Given the description of an element on the screen output the (x, y) to click on. 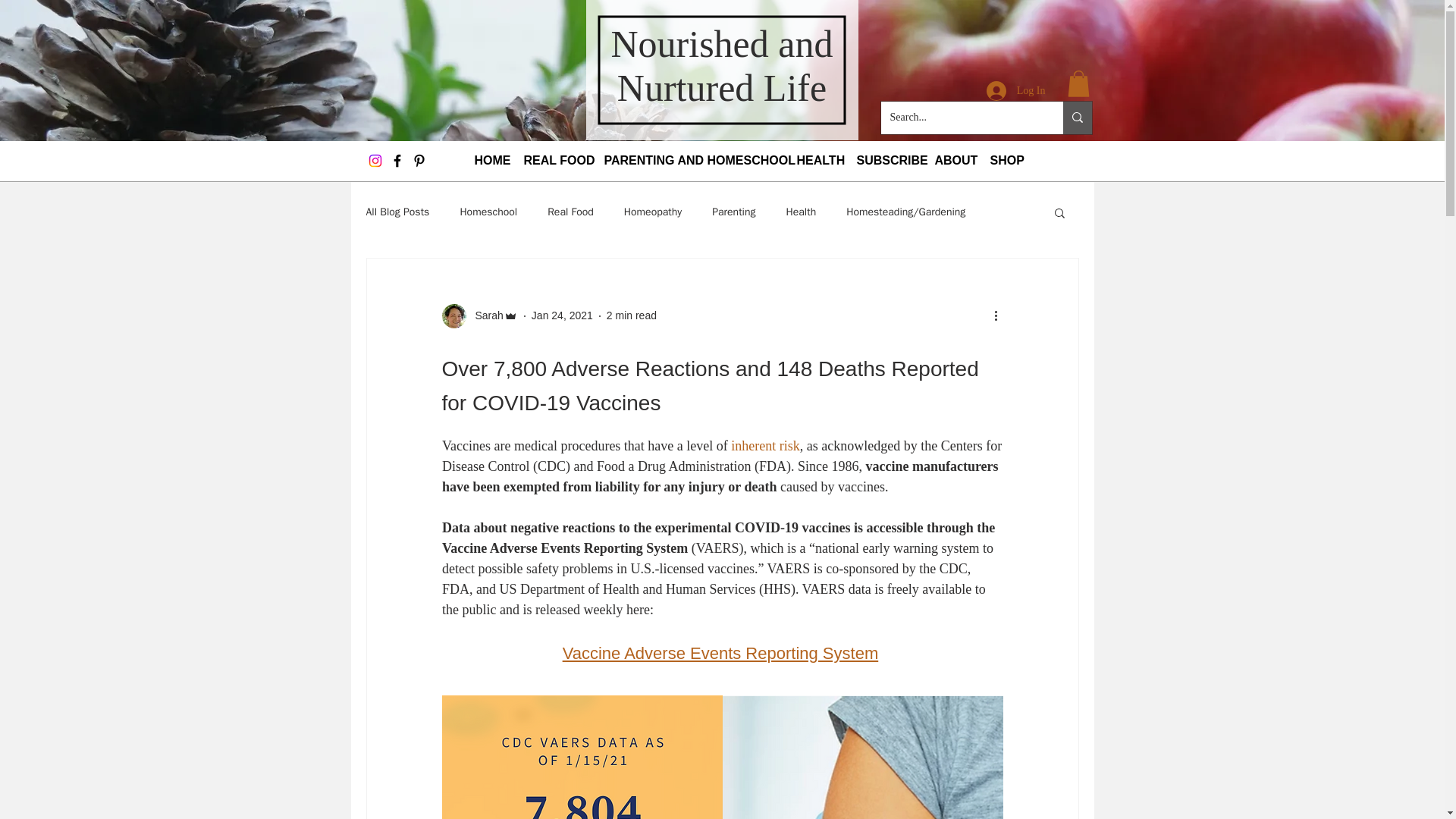
ABOUT (953, 160)
Sarah (483, 315)
All Blog Posts (397, 212)
Log In (1016, 90)
SHOP (1005, 160)
SUBSCRIBE (887, 160)
HOME (491, 160)
2 min read (631, 315)
Jan 24, 2021 (561, 315)
